Given the description of an element on the screen output the (x, y) to click on. 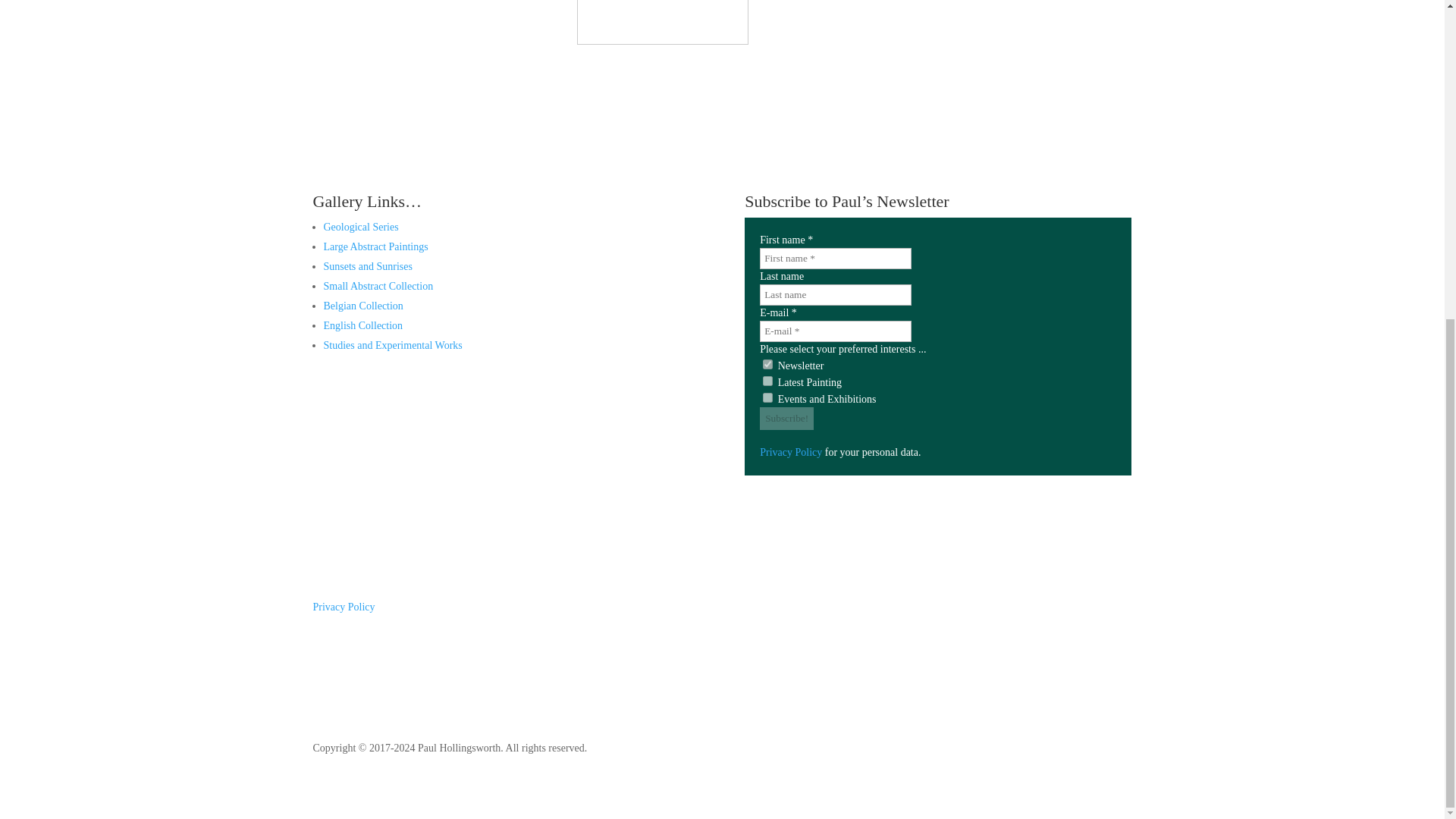
5 (767, 364)
Geological Series (360, 226)
Sunsets and Sunrises (367, 266)
Subscribe! (786, 418)
3 (767, 380)
Small Abstract Collection (377, 285)
Subscribe! (786, 418)
4 (767, 397)
